Given the description of an element on the screen output the (x, y) to click on. 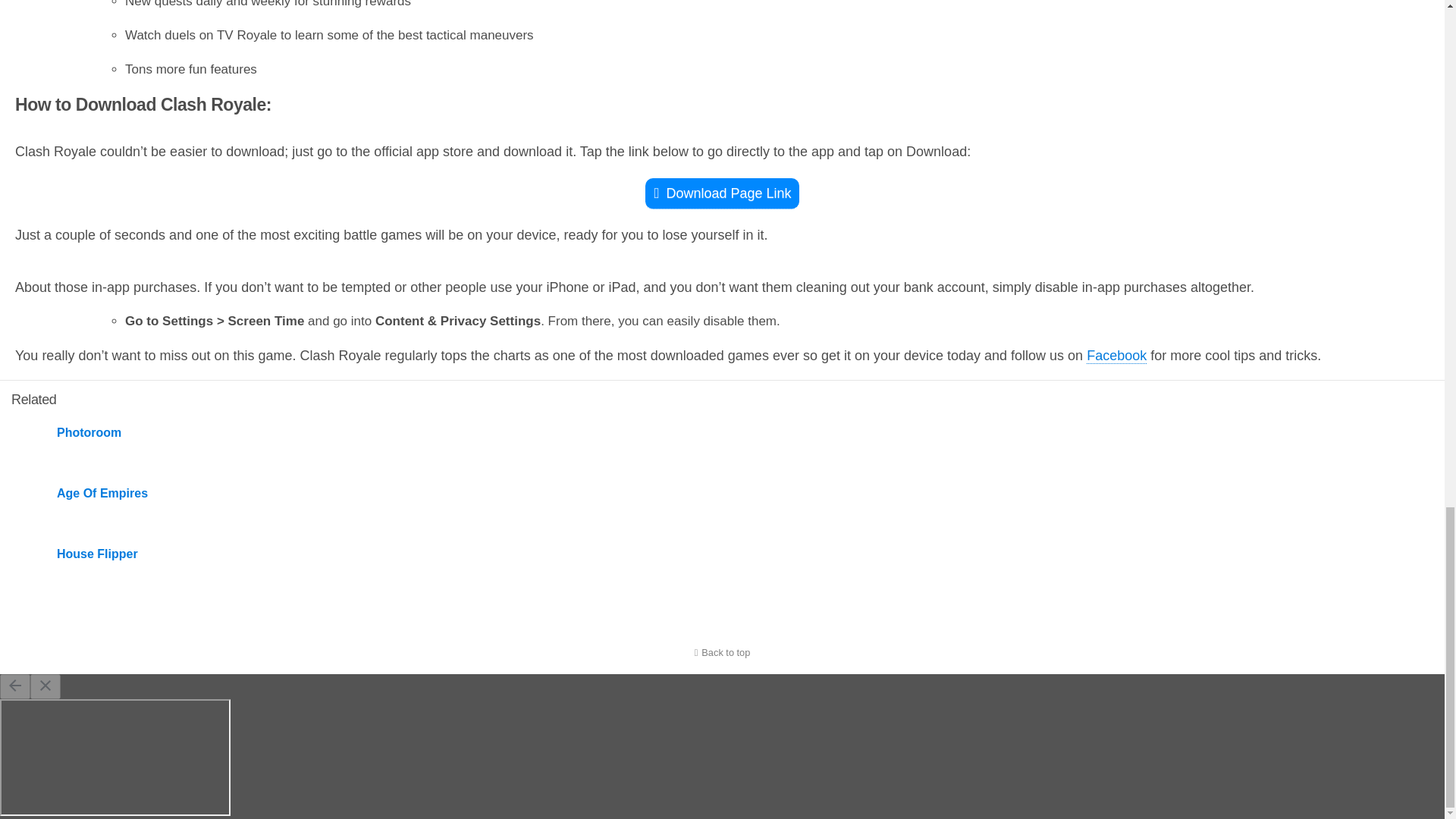
Age Of Empires (602, 493)
Facebook (1116, 355)
Download Page Link (721, 193)
Photoroom (602, 432)
House Flipper (602, 554)
